Given the description of an element on the screen output the (x, y) to click on. 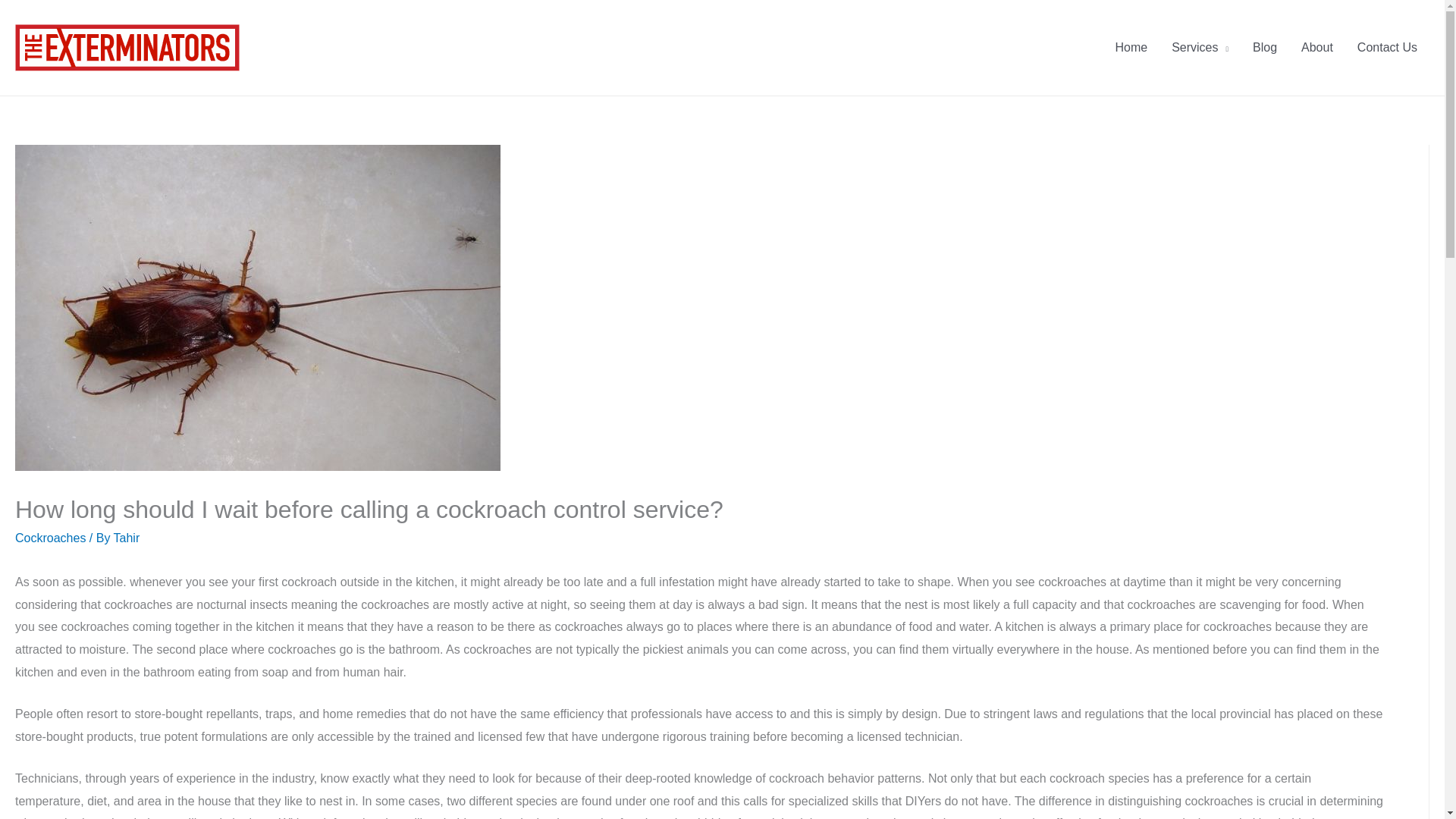
About (1316, 47)
Blog (1264, 47)
Tahir (126, 537)
Services (1199, 47)
Contact Us (1387, 47)
View all posts by Tahir (126, 537)
Home (1130, 47)
Cockroaches (49, 537)
